Given the description of an element on the screen output the (x, y) to click on. 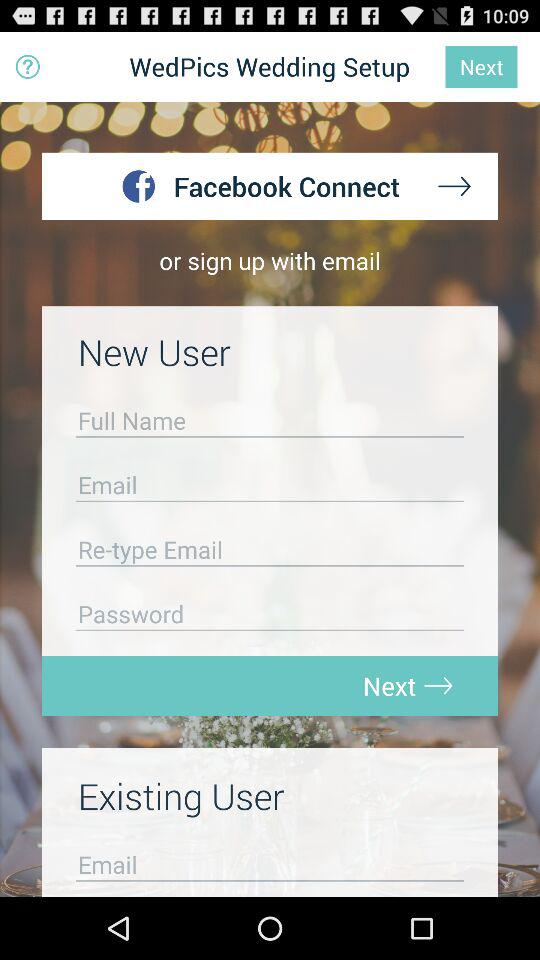
open icon above the or sign up icon (27, 66)
